Given the description of an element on the screen output the (x, y) to click on. 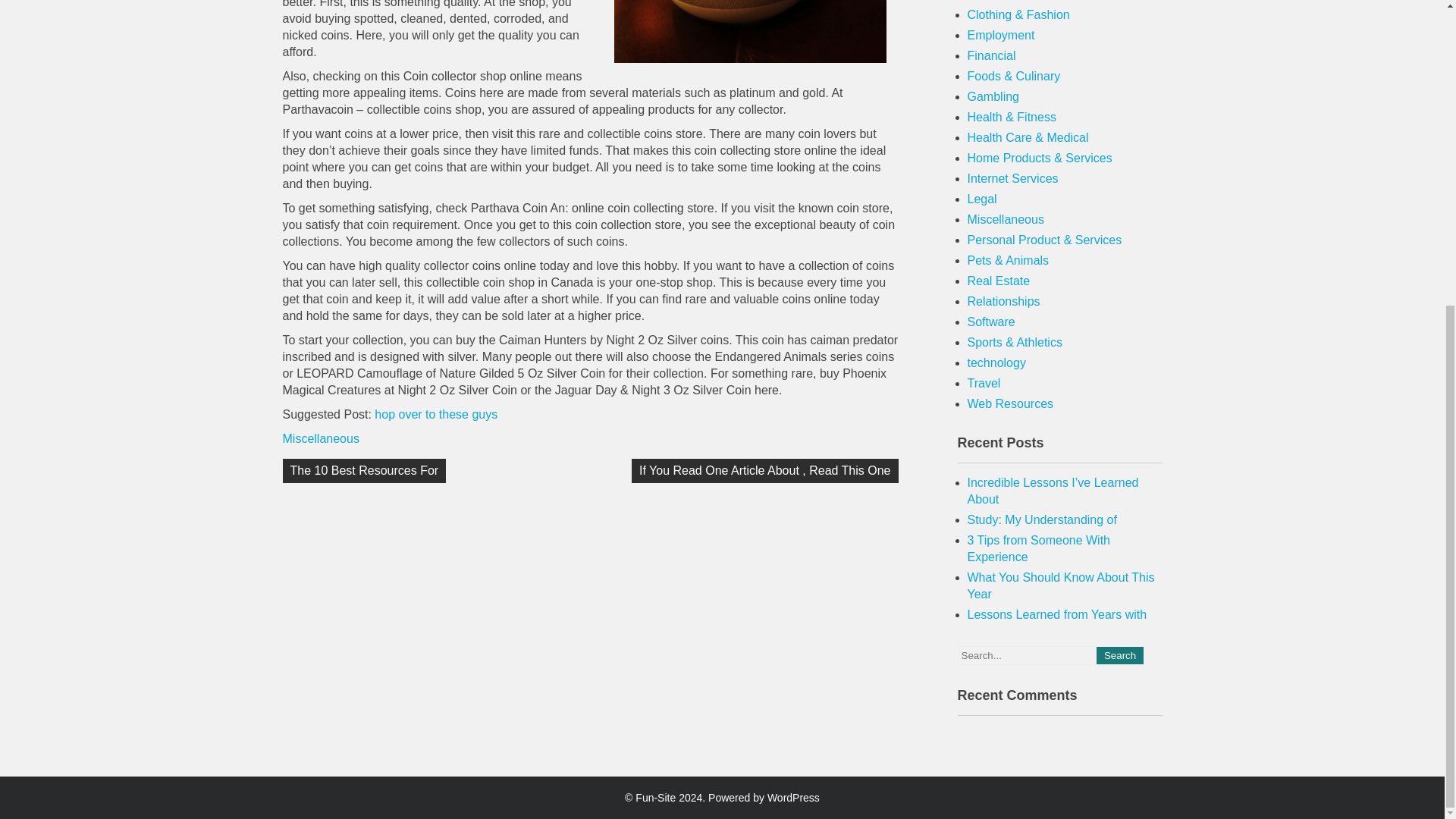
Search (1119, 655)
The 10 Best Resources For (363, 470)
Legal (982, 198)
Financial (992, 55)
Miscellaneous (320, 438)
Internet Services (1013, 178)
Employment (1001, 34)
If You Read One Article About , Read This One (764, 470)
hop over to these guys (435, 413)
Real Estate (999, 280)
